Given the description of an element on the screen output the (x, y) to click on. 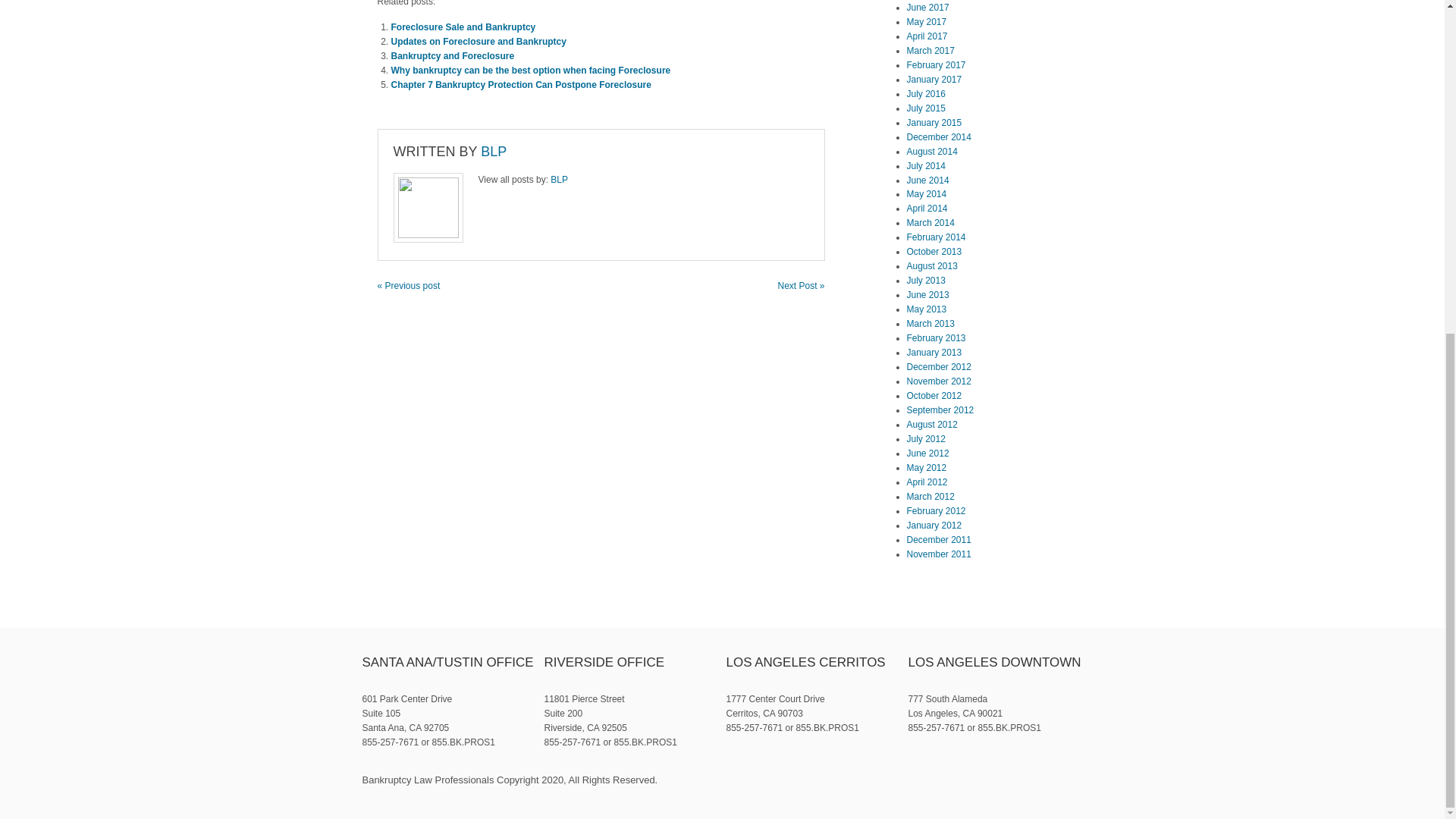
Bankruptcy and Foreclosure (453, 55)
Updates on Foreclosure and Bankruptcy (478, 41)
Foreclosure Sale and Bankruptcy (463, 27)
